Given the description of an element on the screen output the (x, y) to click on. 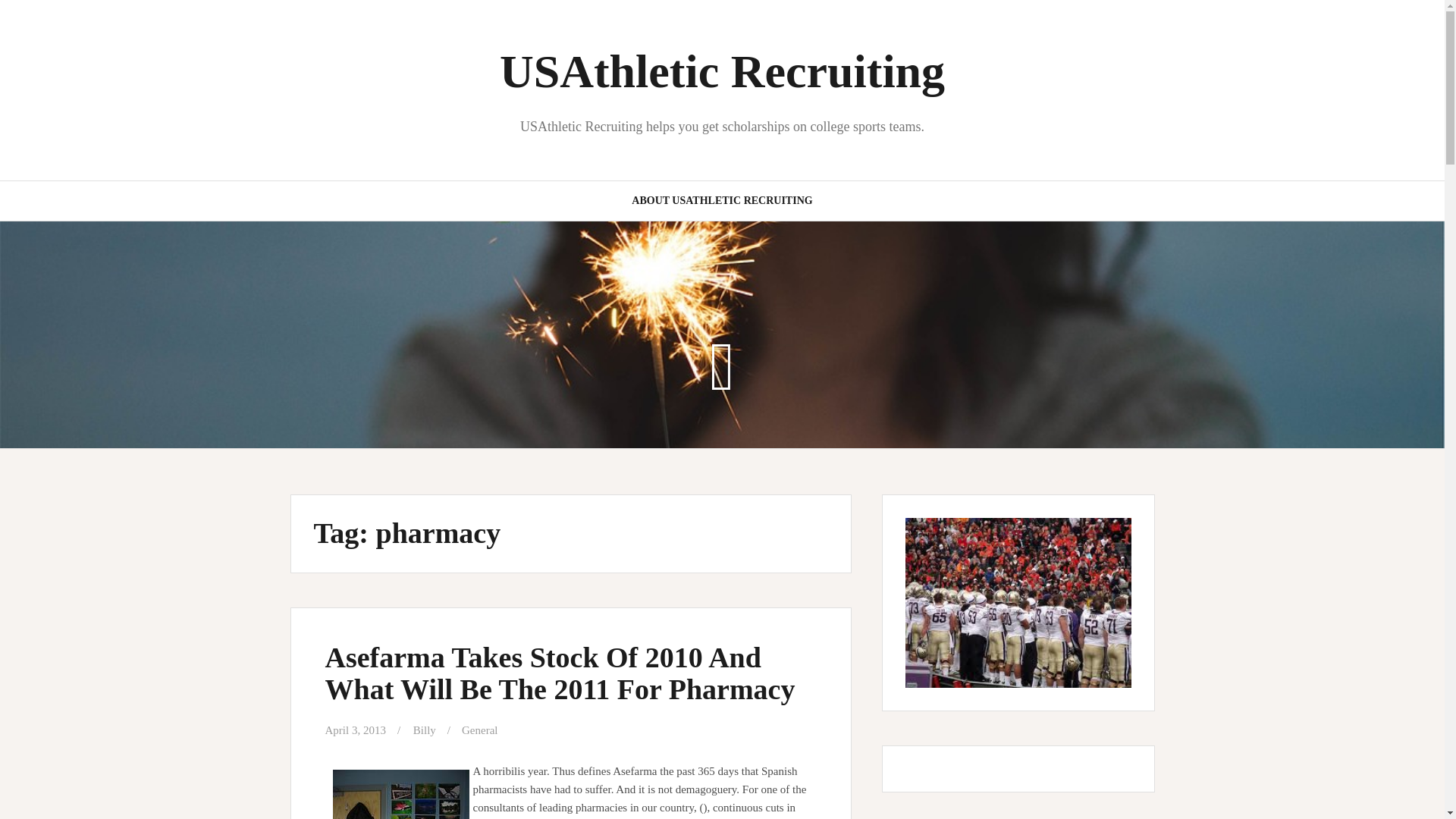
USAthletic Recruiting (721, 71)
General (479, 729)
ABOUT USATHLETIC RECRUITING (721, 200)
Billy (424, 729)
April 3, 2013 (354, 729)
